Given the description of an element on the screen output the (x, y) to click on. 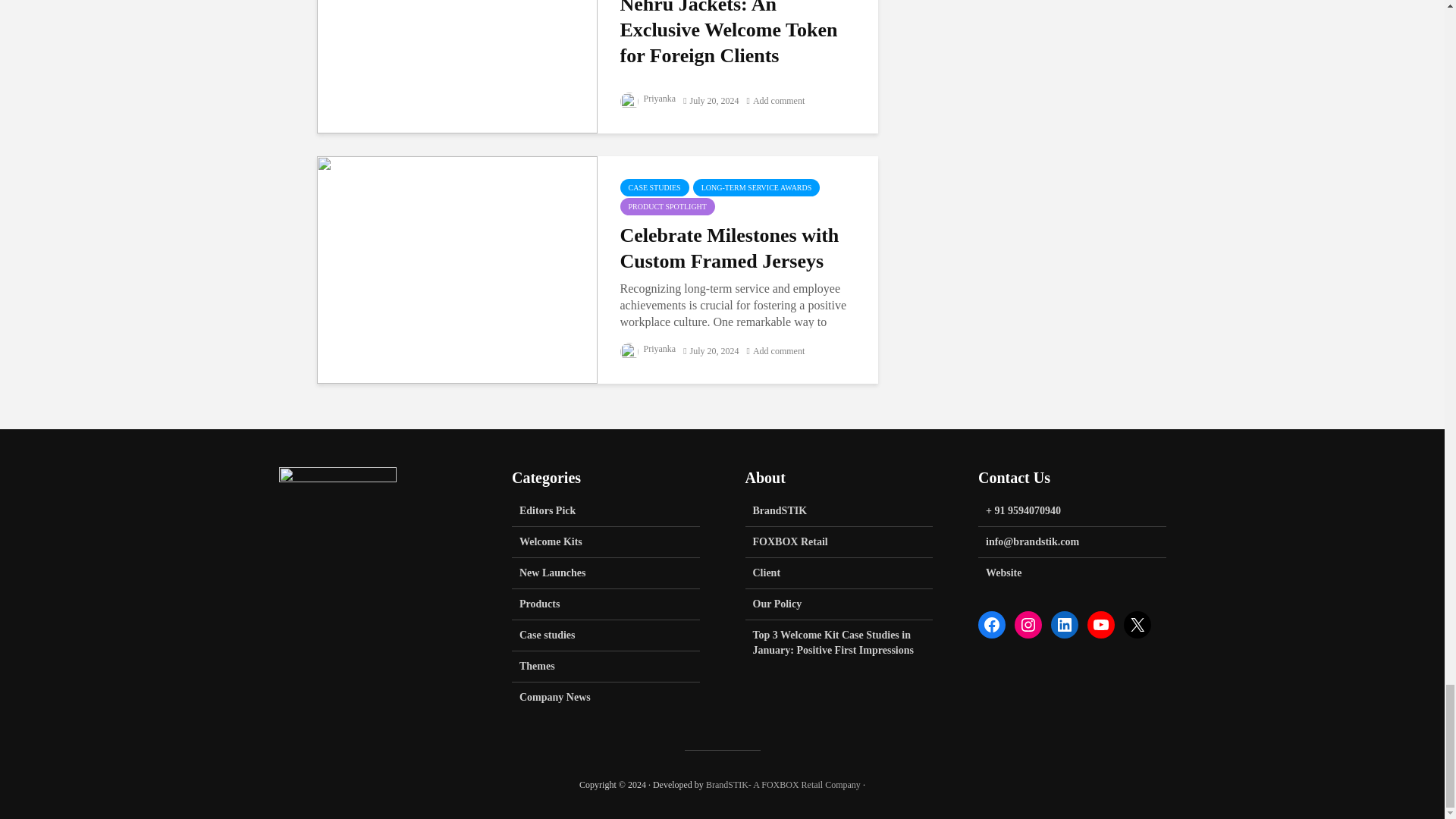
Celebrate Milestones with Custom Framed Jerseys (456, 267)
